Given the description of an element on the screen output the (x, y) to click on. 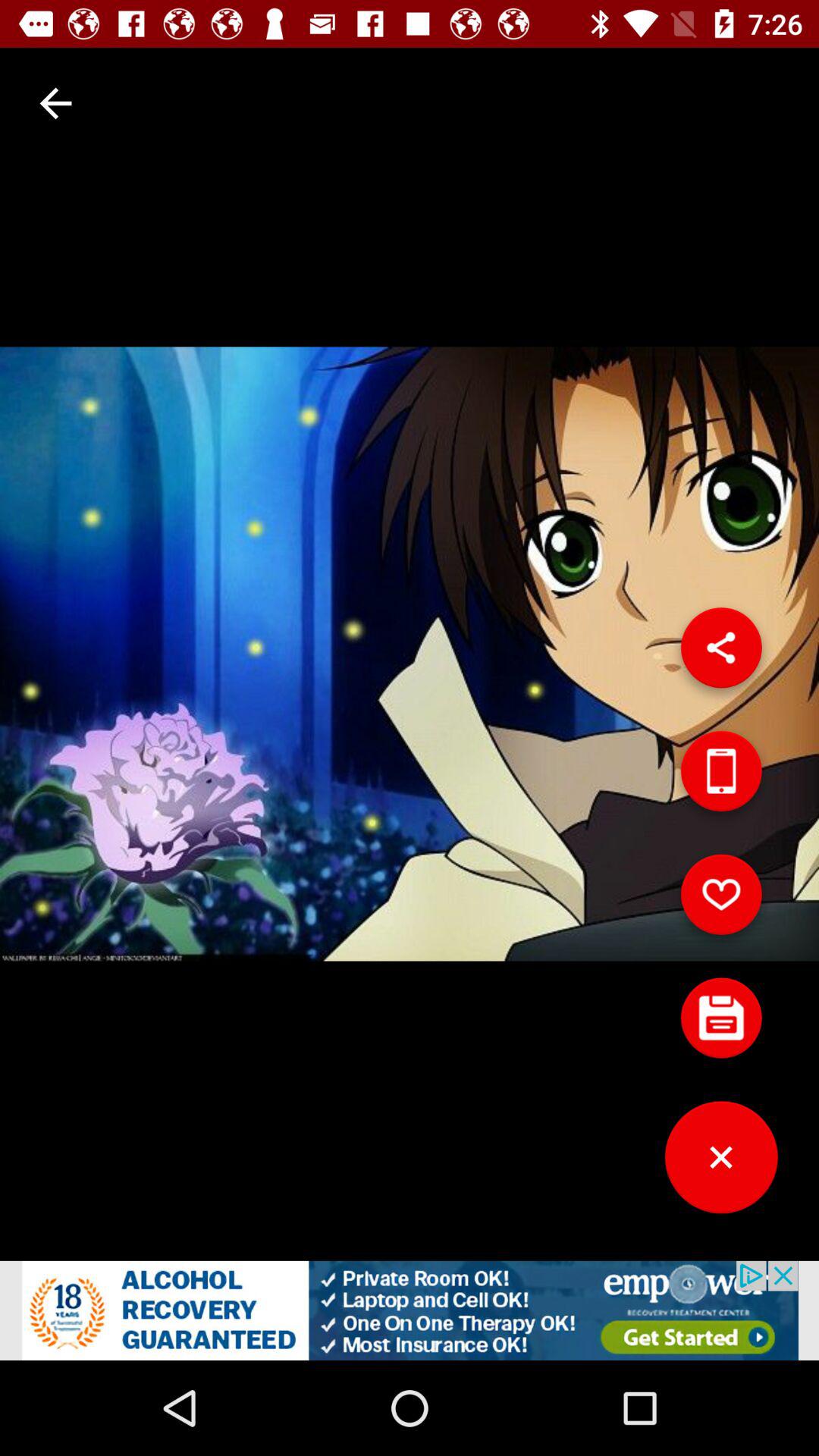
save button option (721, 1023)
